Given the description of an element on the screen output the (x, y) to click on. 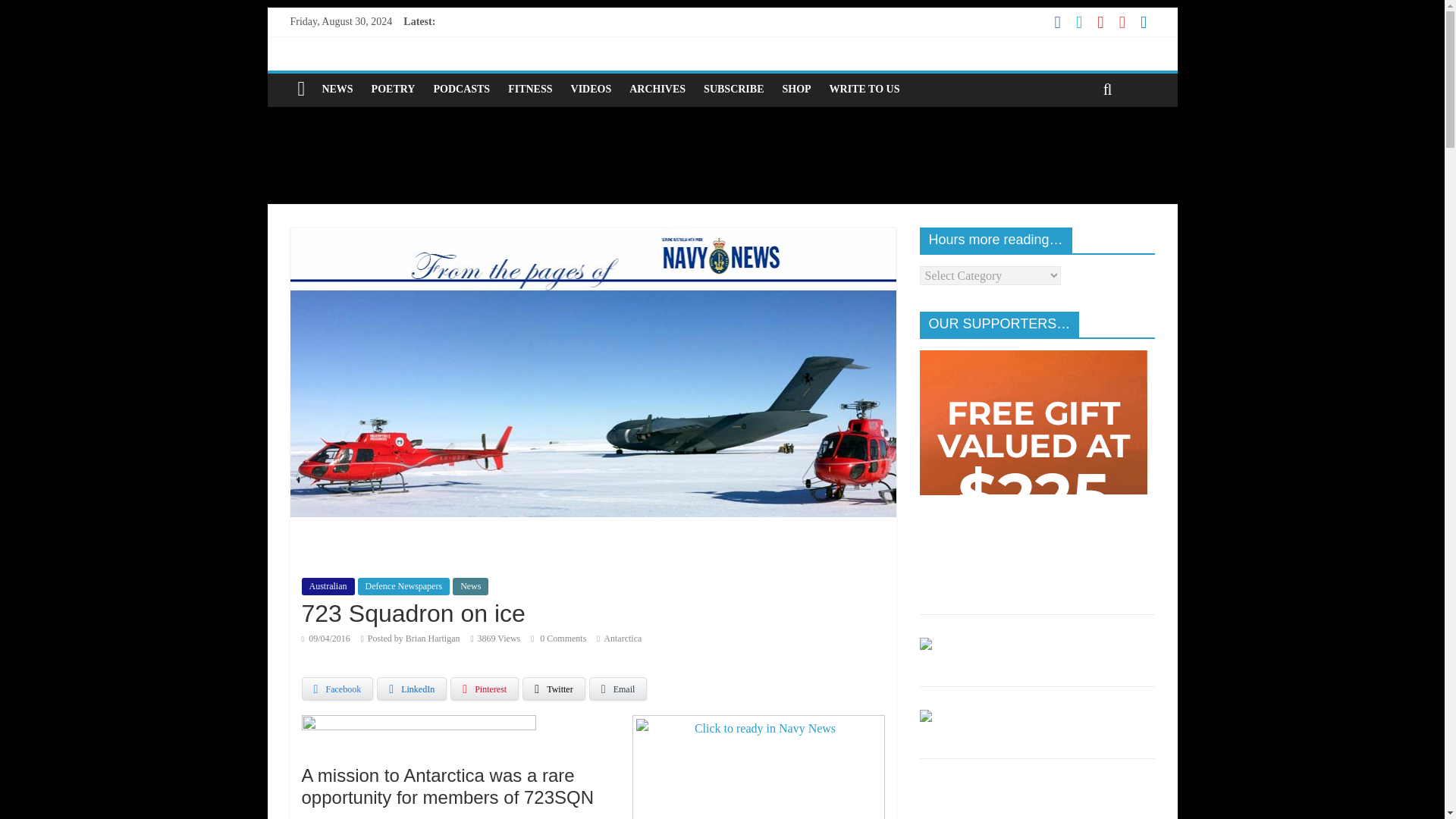
0 Comments (558, 638)
ARCHIVES (657, 89)
LinkedIn (411, 689)
Email (618, 689)
Posted by Brian Hartigan (414, 638)
PODCASTS (461, 89)
FITNESS (529, 89)
11:11 pm (325, 638)
SUBSCRIBE (733, 89)
Share this article on LinkedIn (411, 689)
